Given the description of an element on the screen output the (x, y) to click on. 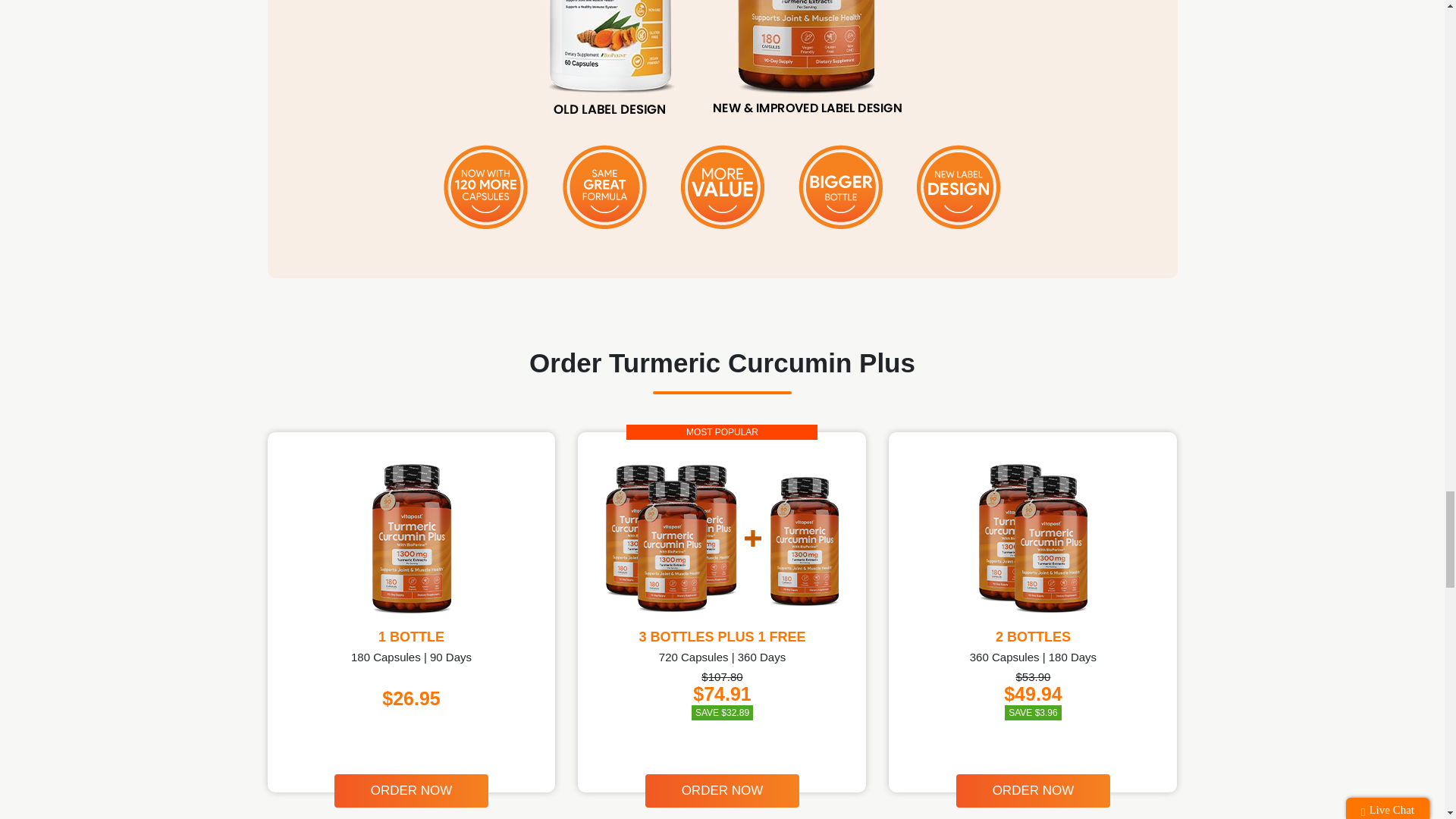
ORDER NOW (411, 790)
ORDER NOW (1033, 790)
3 Bottles Plus 1 Free (721, 538)
ORDER NOW (722, 790)
